Given the description of an element on the screen output the (x, y) to click on. 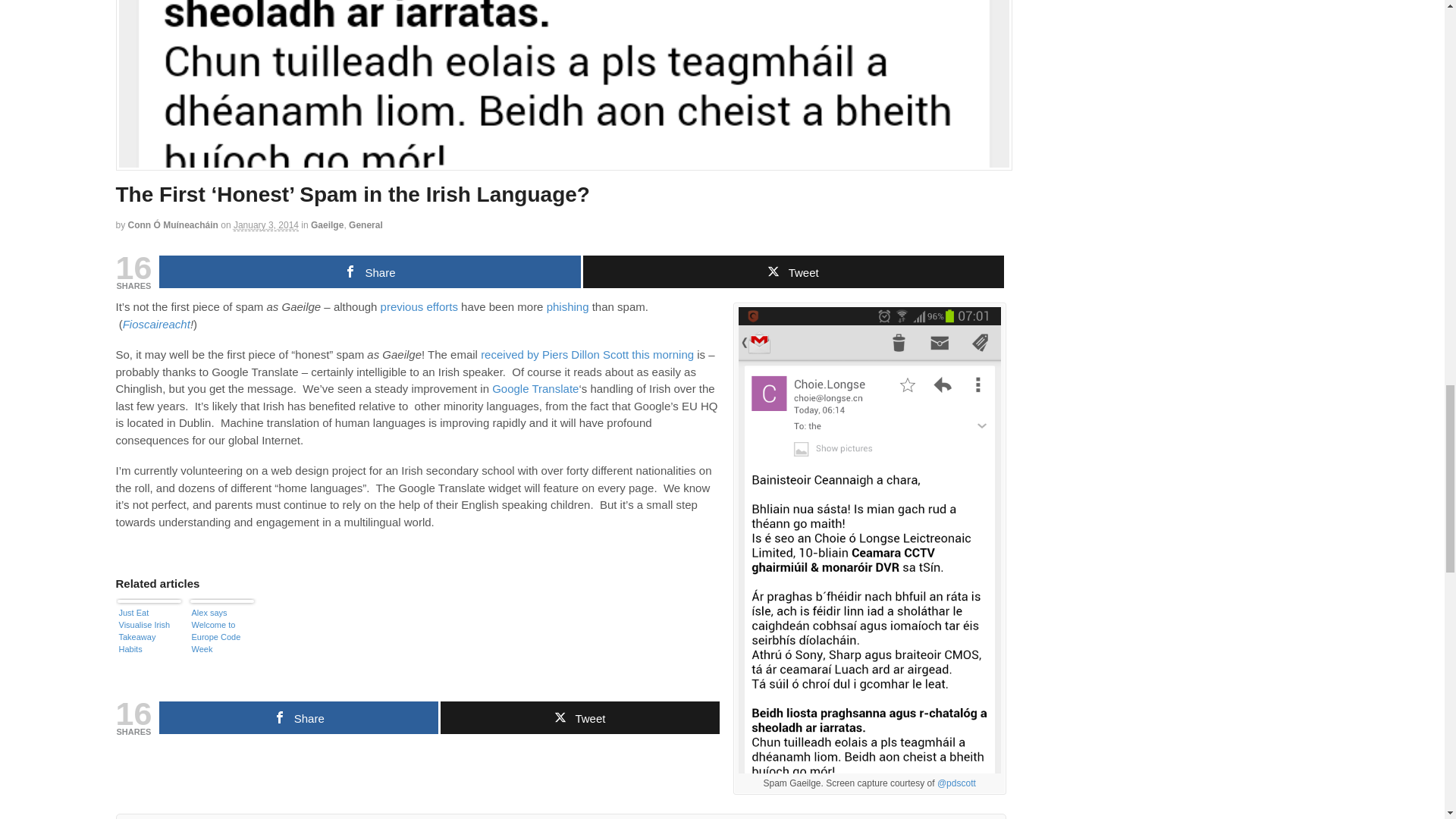
Share (368, 271)
previous efforts (419, 306)
Google Translate (535, 388)
Just Eat Visualise Irish Takeaway Habits (148, 634)
View all items in General (365, 225)
Fioscaireacht (156, 323)
Share (298, 717)
Tweet (580, 717)
Tweet (792, 271)
phishing (568, 306)
View all items in Gaeilge (327, 225)
received by Piers Dillon Scott this morning (587, 354)
Alex says Welcome to Europe Code Week (221, 634)
Gaeilge (327, 225)
General (365, 225)
